Given the description of an element on the screen output the (x, y) to click on. 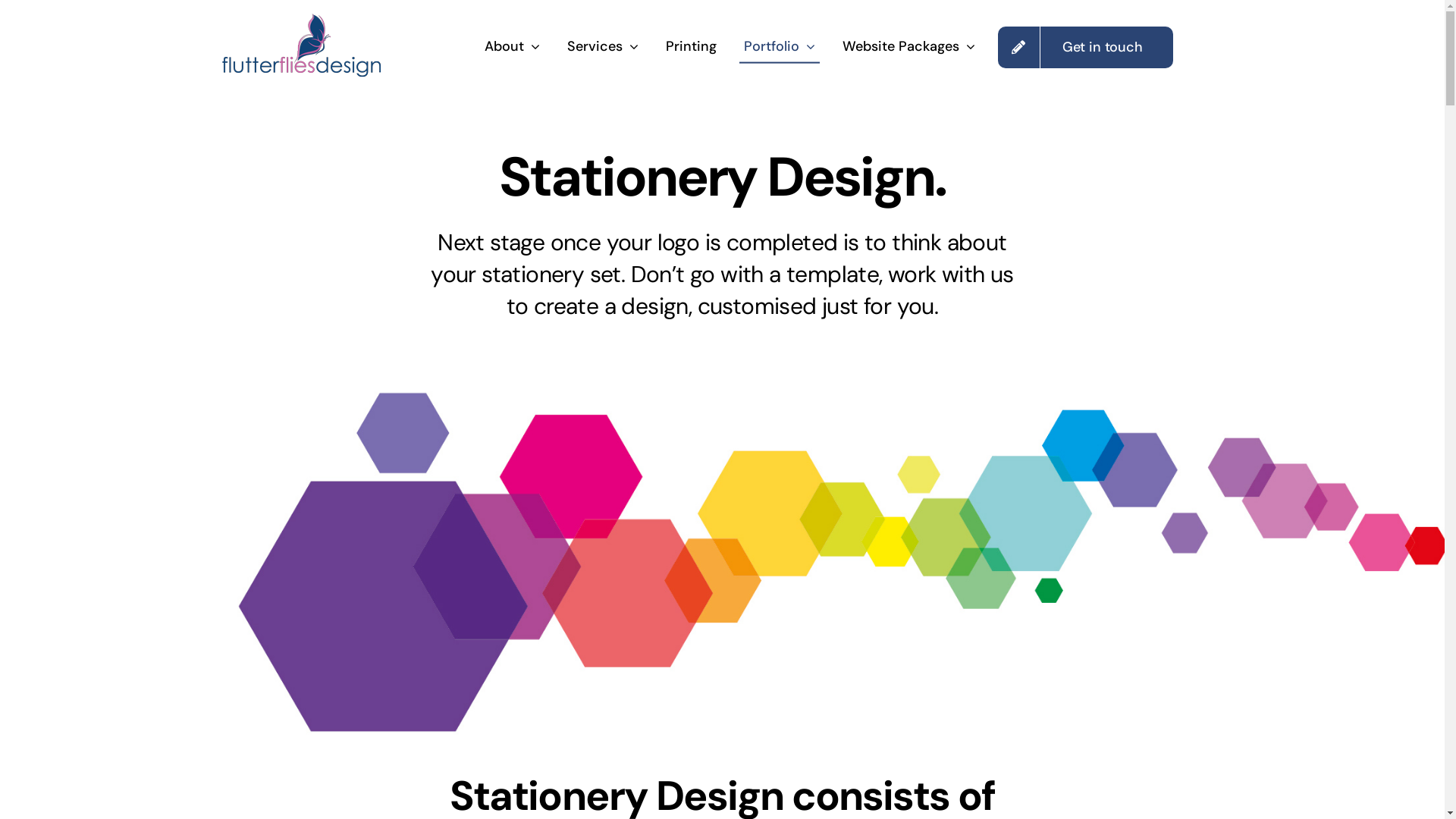
Website Packages Element type: text (908, 47)
About Element type: text (512, 47)
Services Element type: text (602, 47)
Get in touch Element type: text (1085, 46)
Portfolio Element type: text (779, 47)
Printing Element type: text (691, 47)
